Given the description of an element on the screen output the (x, y) to click on. 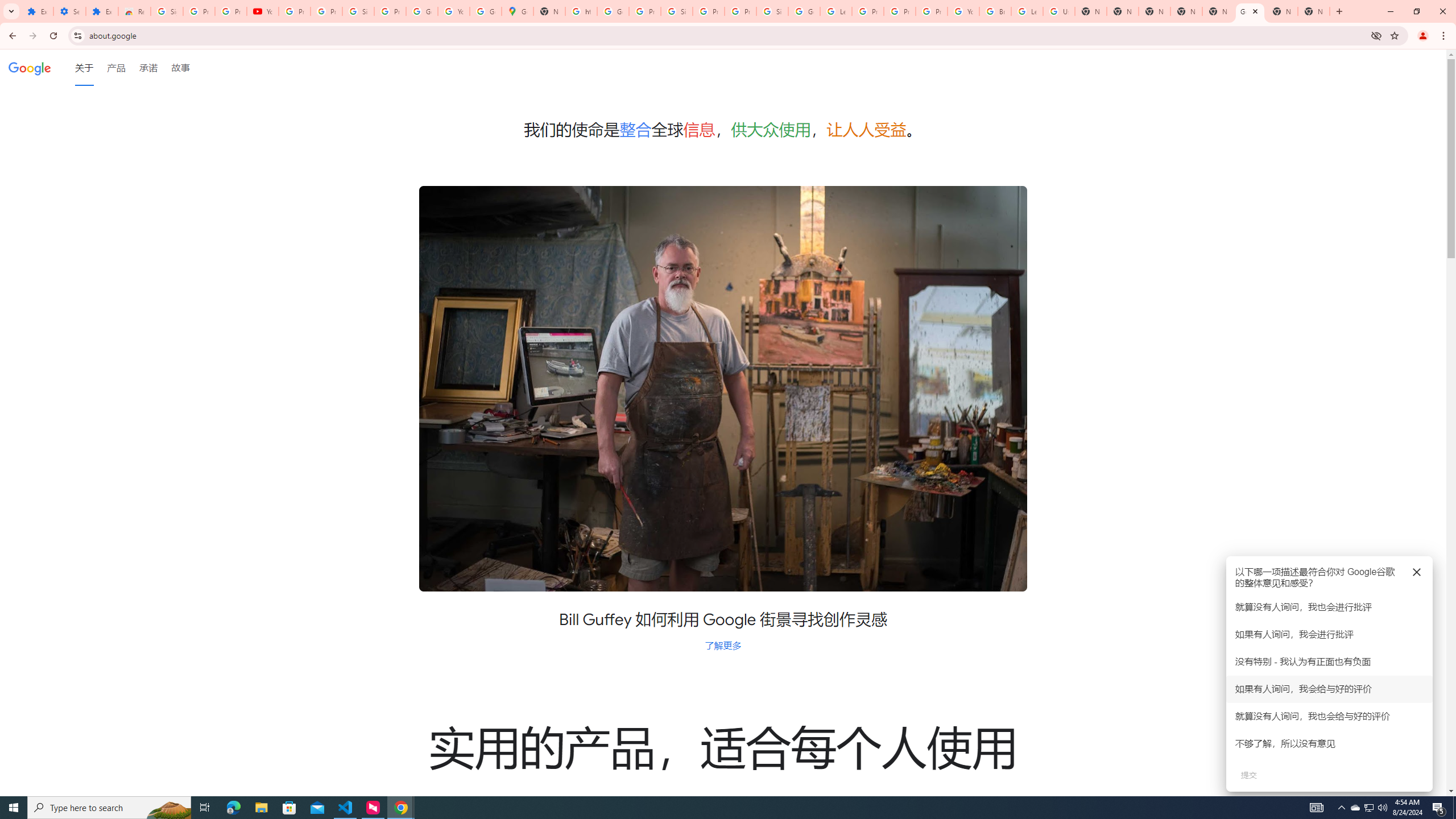
New Tab (1313, 11)
Reviews: Helix Fruit Jump Arcade Game (134, 11)
Privacy Help Center - Policies Help (899, 11)
YouTube (453, 11)
